Given the description of an element on the screen output the (x, y) to click on. 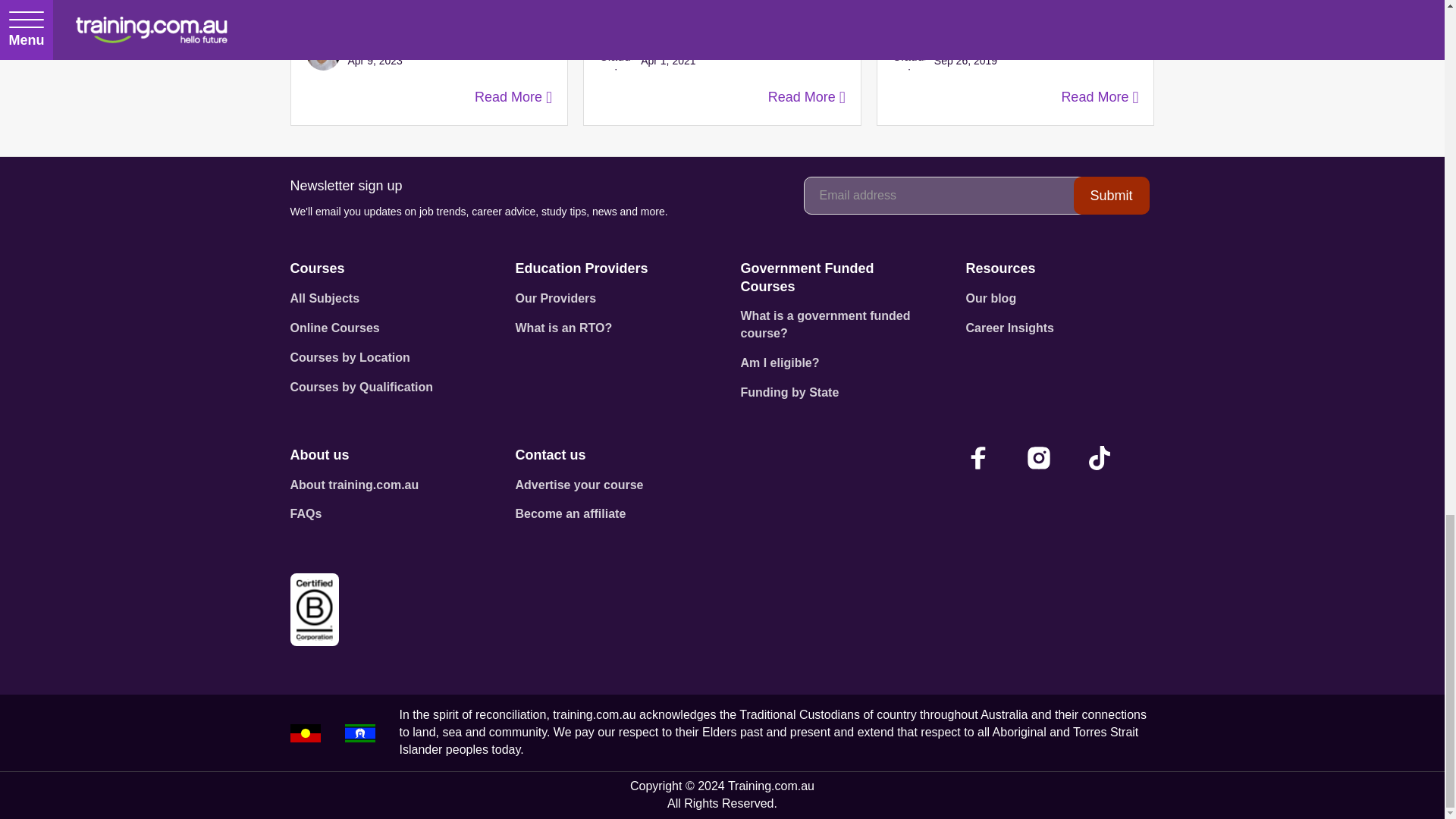
Submit (1112, 195)
